Given the description of an element on the screen output the (x, y) to click on. 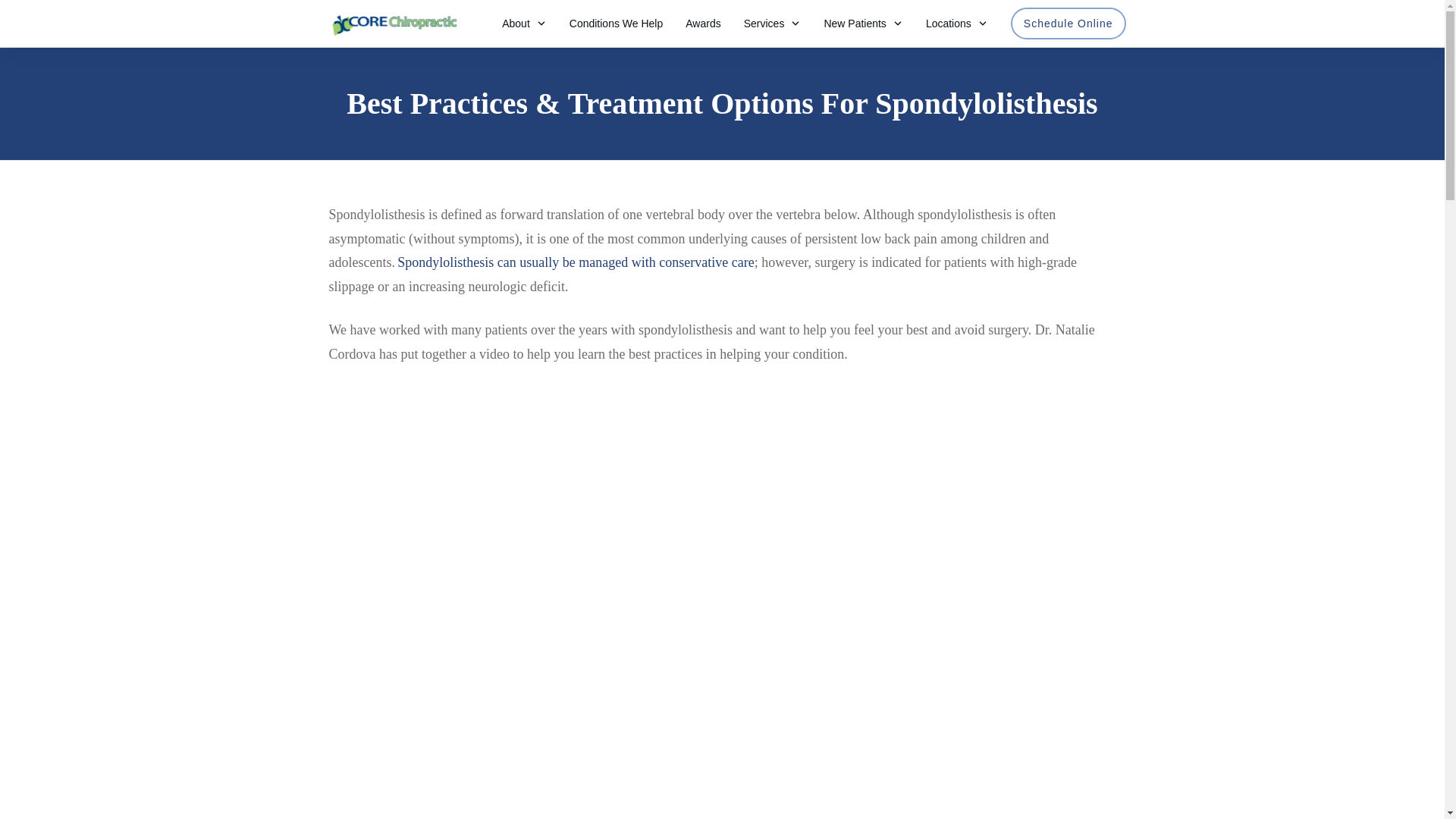
Services (773, 23)
Locations (957, 23)
New Patients (863, 23)
Conditions We Help (615, 23)
Schedule Online (1068, 23)
Awards (702, 23)
About (524, 23)
